Given the description of an element on the screen output the (x, y) to click on. 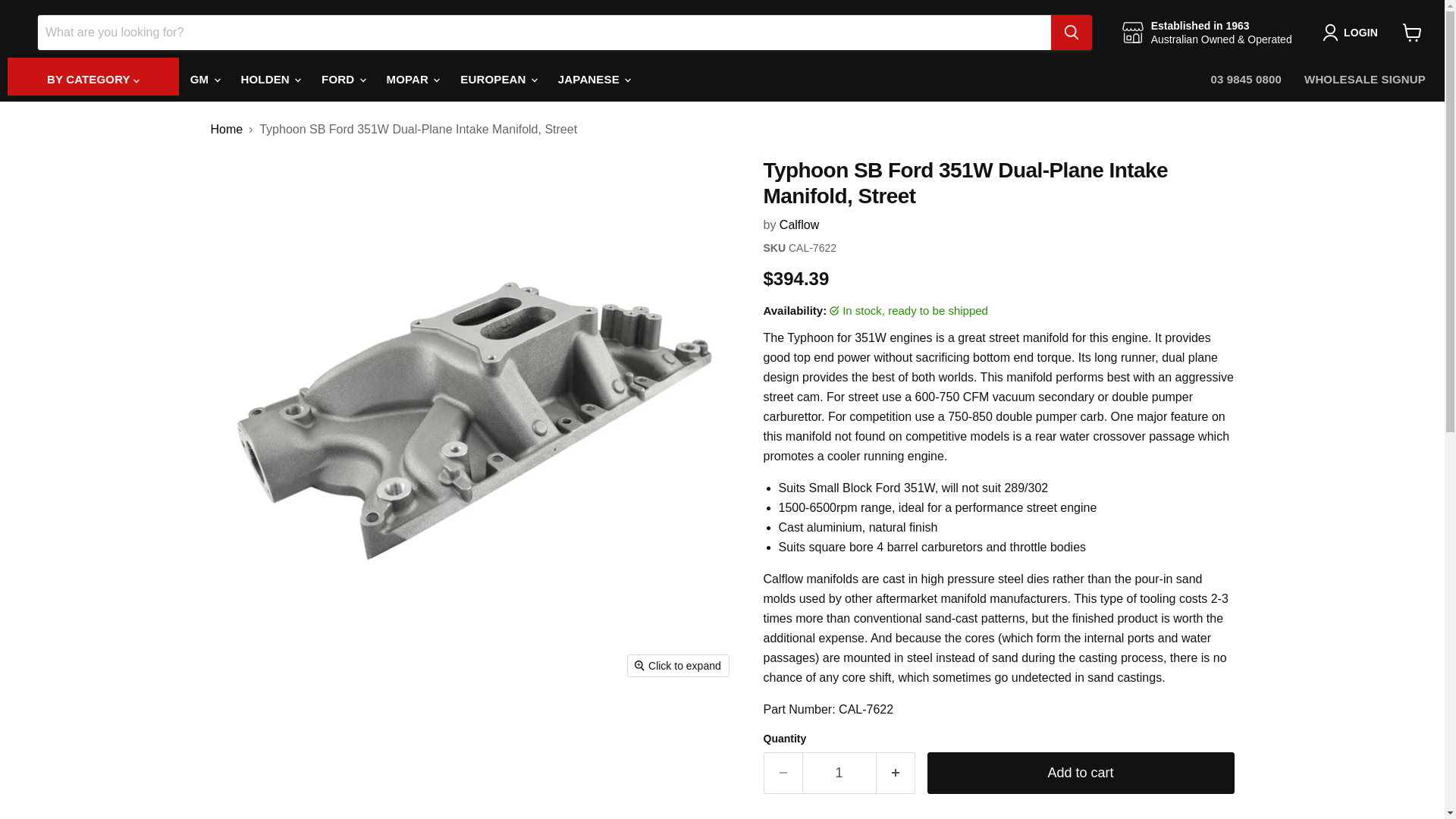
1 (839, 772)
View cart (1411, 32)
Calflow (798, 224)
LOGIN (1353, 32)
